Given the description of an element on the screen output the (x, y) to click on. 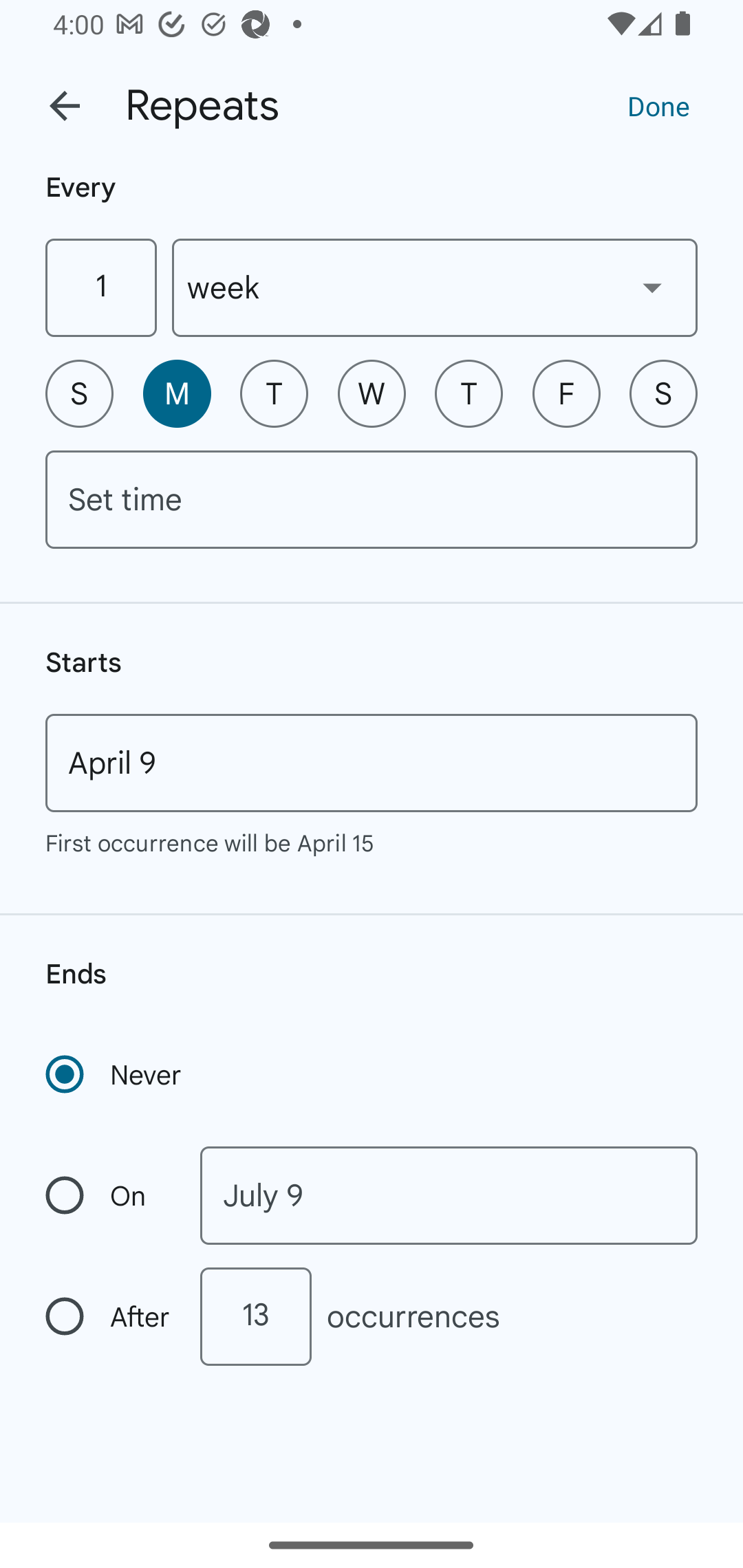
Back (64, 105)
Done (658, 105)
1 (100, 287)
week (434, 287)
Show dropdown menu (652, 286)
S Sunday (79, 393)
M Monday, selected (177, 393)
T Tuesday (273, 393)
W Wednesday (371, 393)
T Thursday (468, 393)
F Friday (566, 393)
S Saturday (663, 393)
Set time (371, 499)
April 9 (371, 762)
Never Recurrence never ends (115, 1074)
July 9 (448, 1195)
On Recurrence ends on a specific date (109, 1195)
13 (255, 1315)
